Given the description of an element on the screen output the (x, y) to click on. 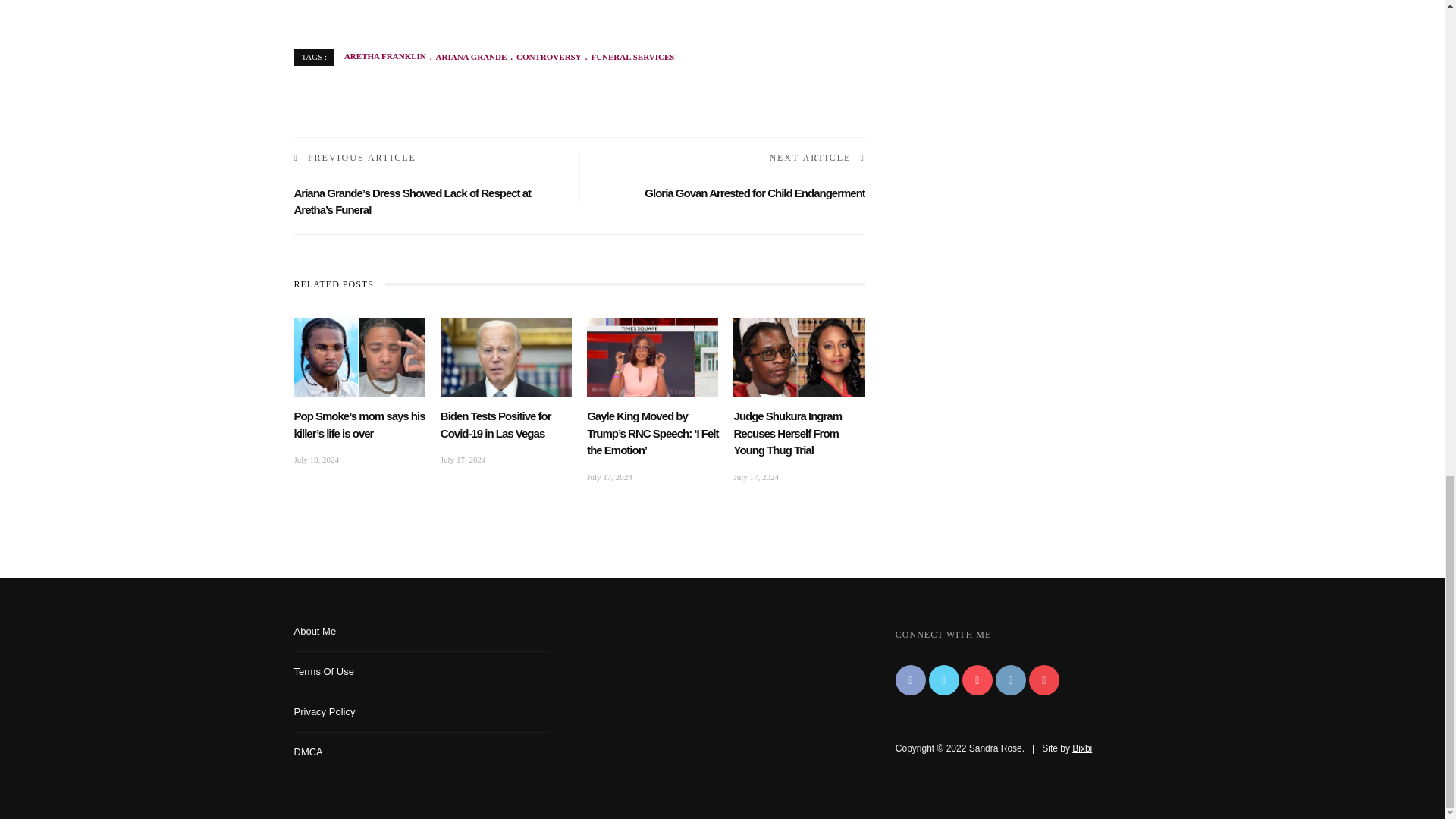
CONTROVERSY (543, 56)
FUNERAL SERVICES (627, 56)
Judge Shukura Ingram Recuses Herself From Young Thug Trial (787, 432)
ARIANA GRANDE (466, 56)
Biden Tests Positive for Covid-19 in Las Vegas (496, 424)
Judge Shukura Ingram Recuses Herself From Young Thug Trial (798, 356)
ARETHA FRANKLIN (384, 56)
Bixbi (1081, 747)
Gloria Govan Arrested for Child Endangerment (754, 192)
Biden Tests Positive for Covid-19 in Las Vegas (506, 356)
